Given the description of an element on the screen output the (x, y) to click on. 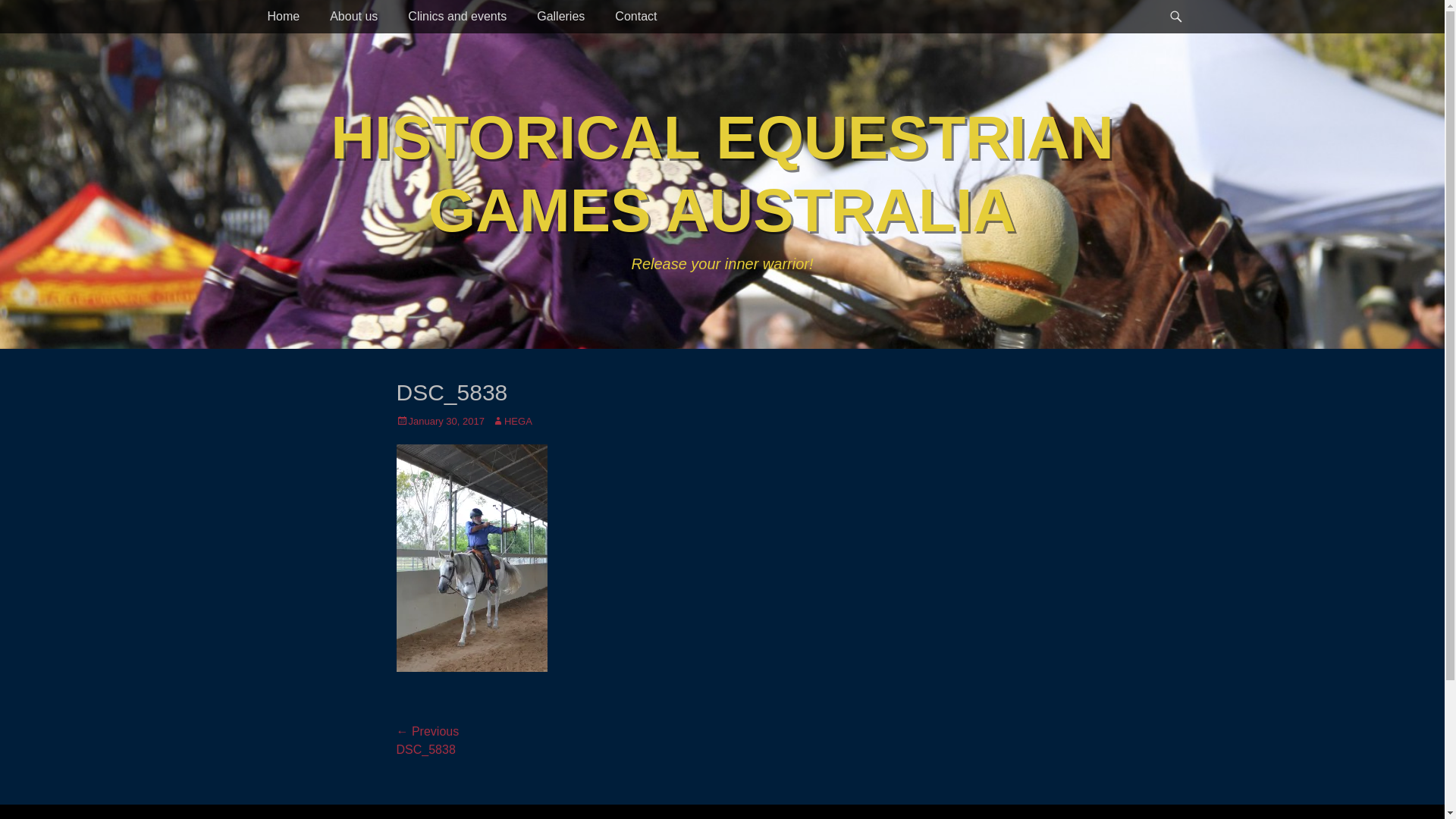
About us Element type: text (353, 16)
Home Element type: text (282, 16)
Contact Element type: text (635, 16)
Clinics and events Element type: text (456, 16)
Galleries Element type: text (560, 16)
January 30, 2017 Element type: text (439, 420)
HISTORICAL EQUESTRIAN GAMES AUSTRALIA Element type: text (721, 173)
Search Element type: text (1183, 0)
HEGA Element type: text (512, 420)
